Given the description of an element on the screen output the (x, y) to click on. 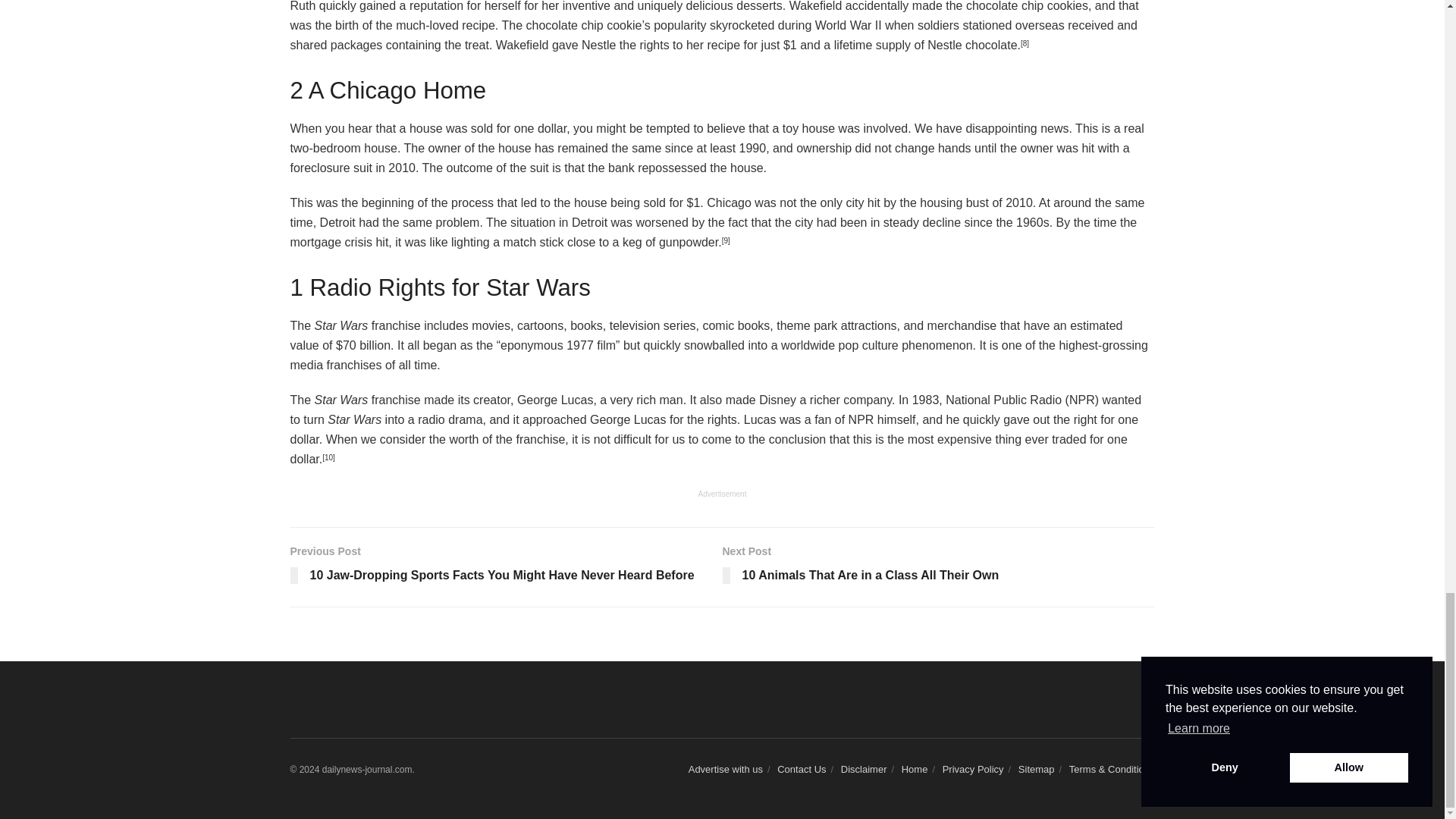
Disclaimer (863, 768)
Contact Us (801, 768)
Home (914, 768)
Advertise with us (938, 567)
